Given the description of an element on the screen output the (x, y) to click on. 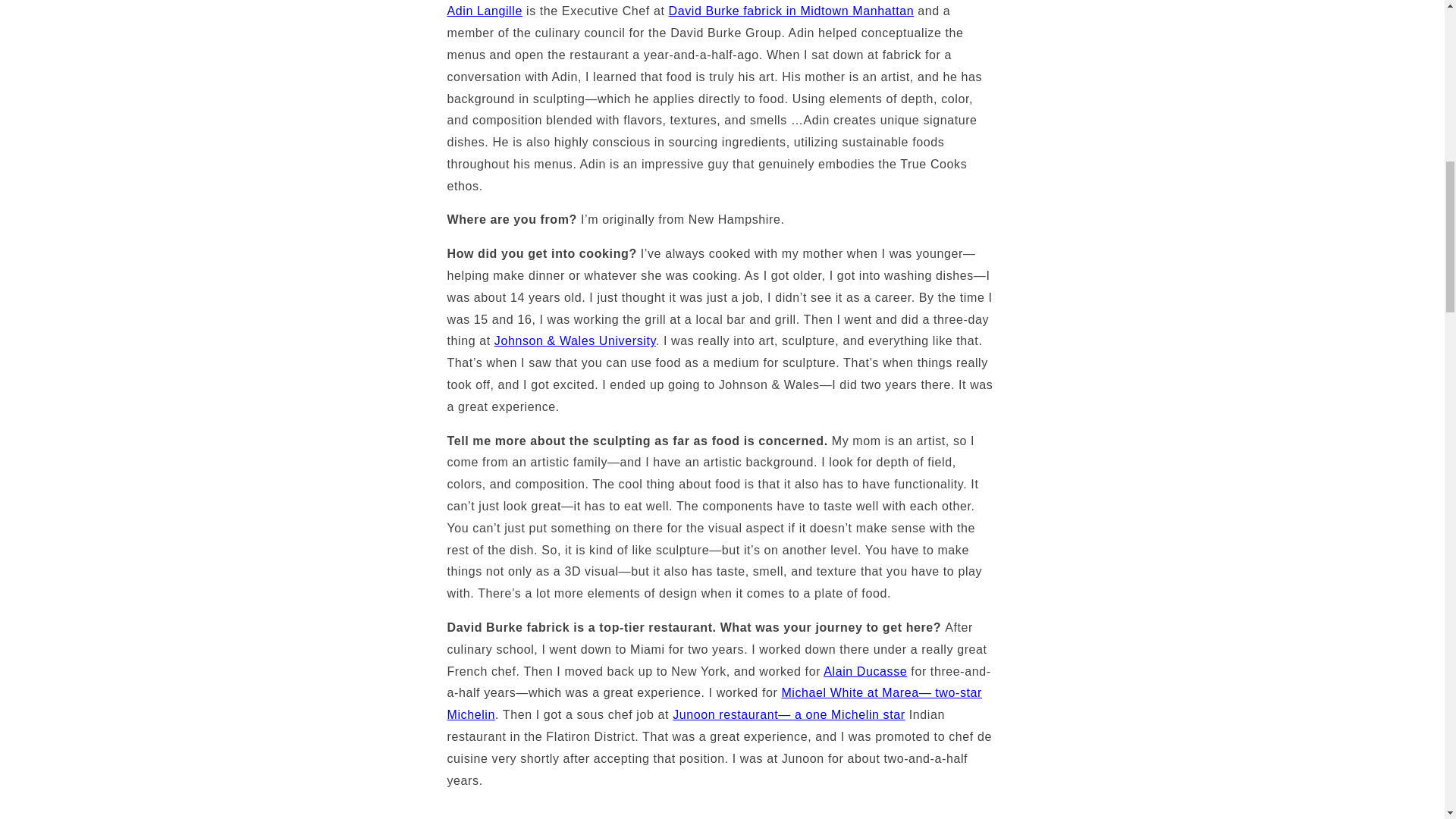
Alain Ducasse (865, 671)
Adin Langille (484, 10)
David Burke fabrick in Midtown Manhattan (791, 10)
